Given the description of an element on the screen output the (x, y) to click on. 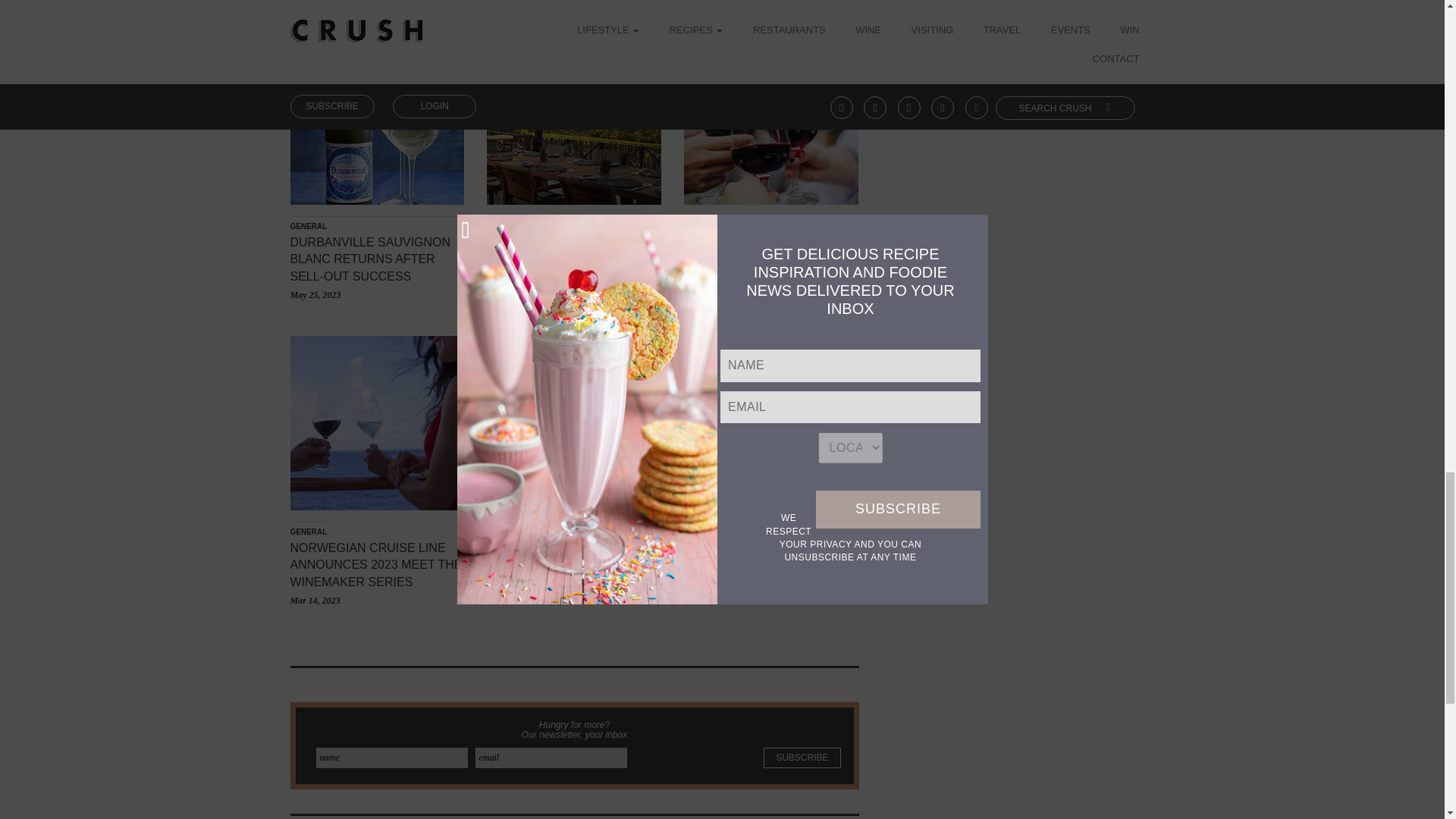
View all posts in General (505, 225)
SUBSCRIBE (801, 757)
View all posts in General (307, 225)
